Given the description of an element on the screen output the (x, y) to click on. 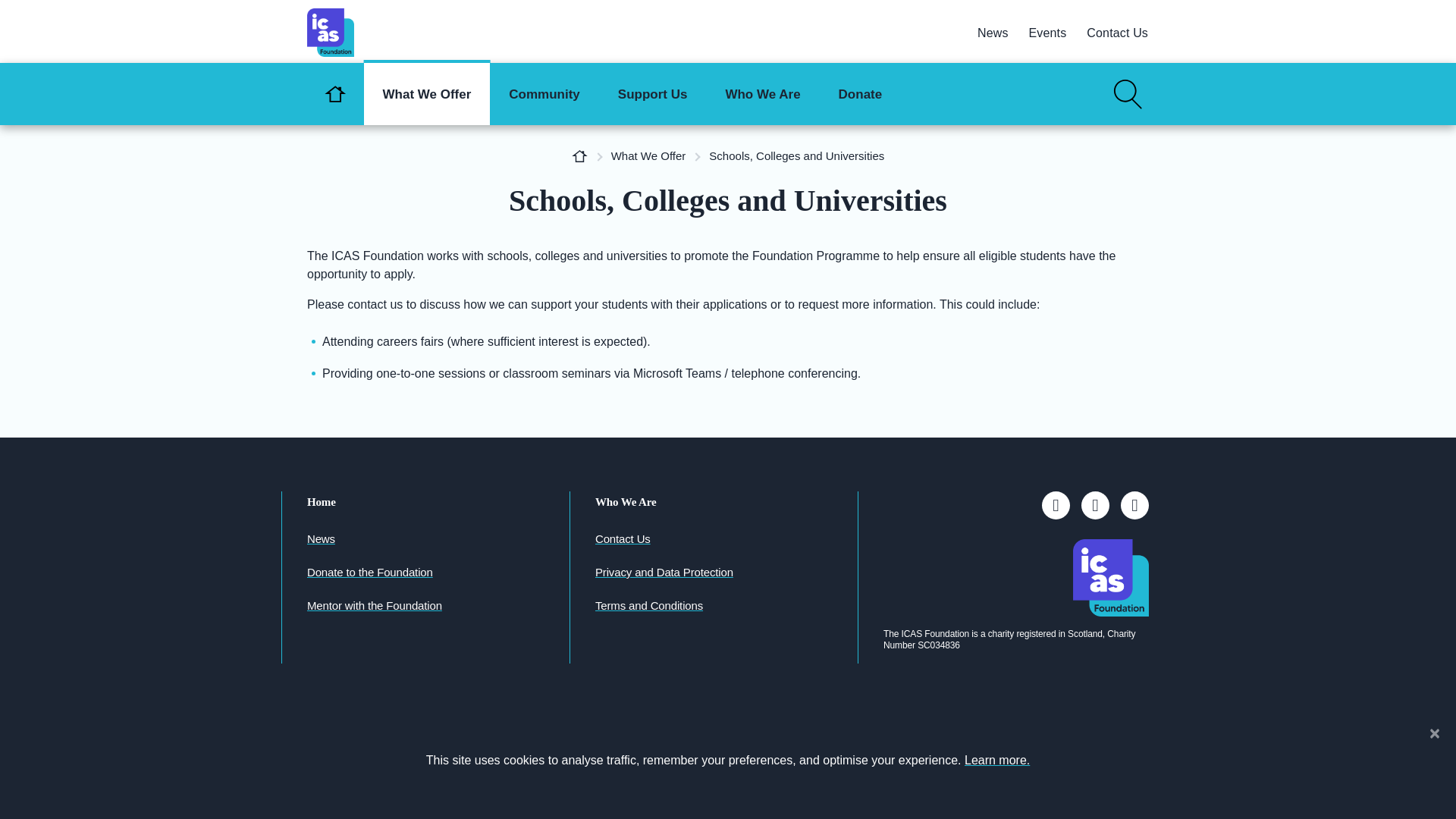
Home Page (580, 155)
Home (335, 94)
News (992, 33)
Contact Us (1117, 33)
Community (543, 94)
Support Us (652, 94)
Events (1048, 33)
Donate (860, 94)
What We Offer (427, 94)
Who We Are (762, 94)
